Given the description of an element on the screen output the (x, y) to click on. 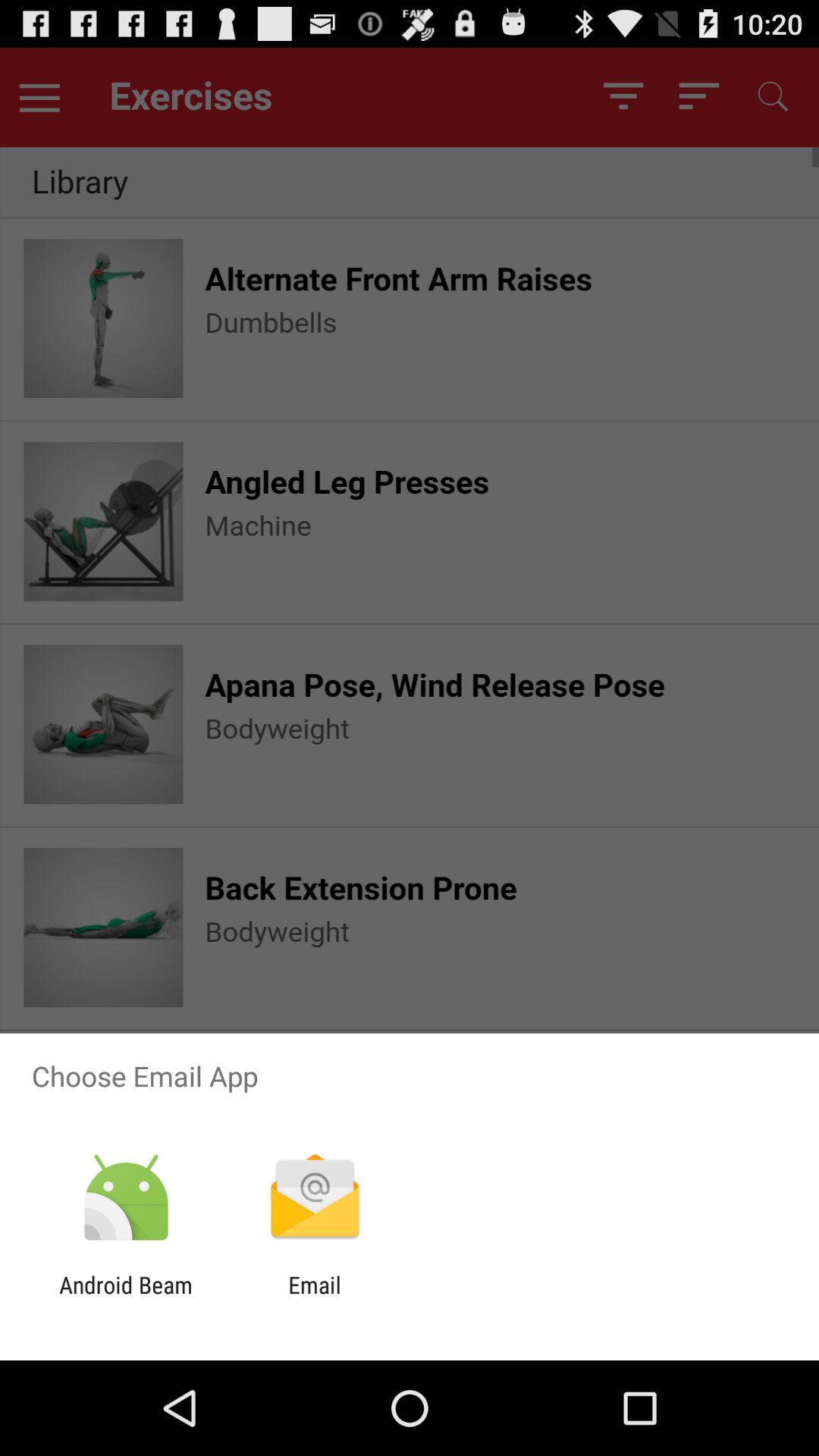
launch android beam icon (125, 1298)
